Given the description of an element on the screen output the (x, y) to click on. 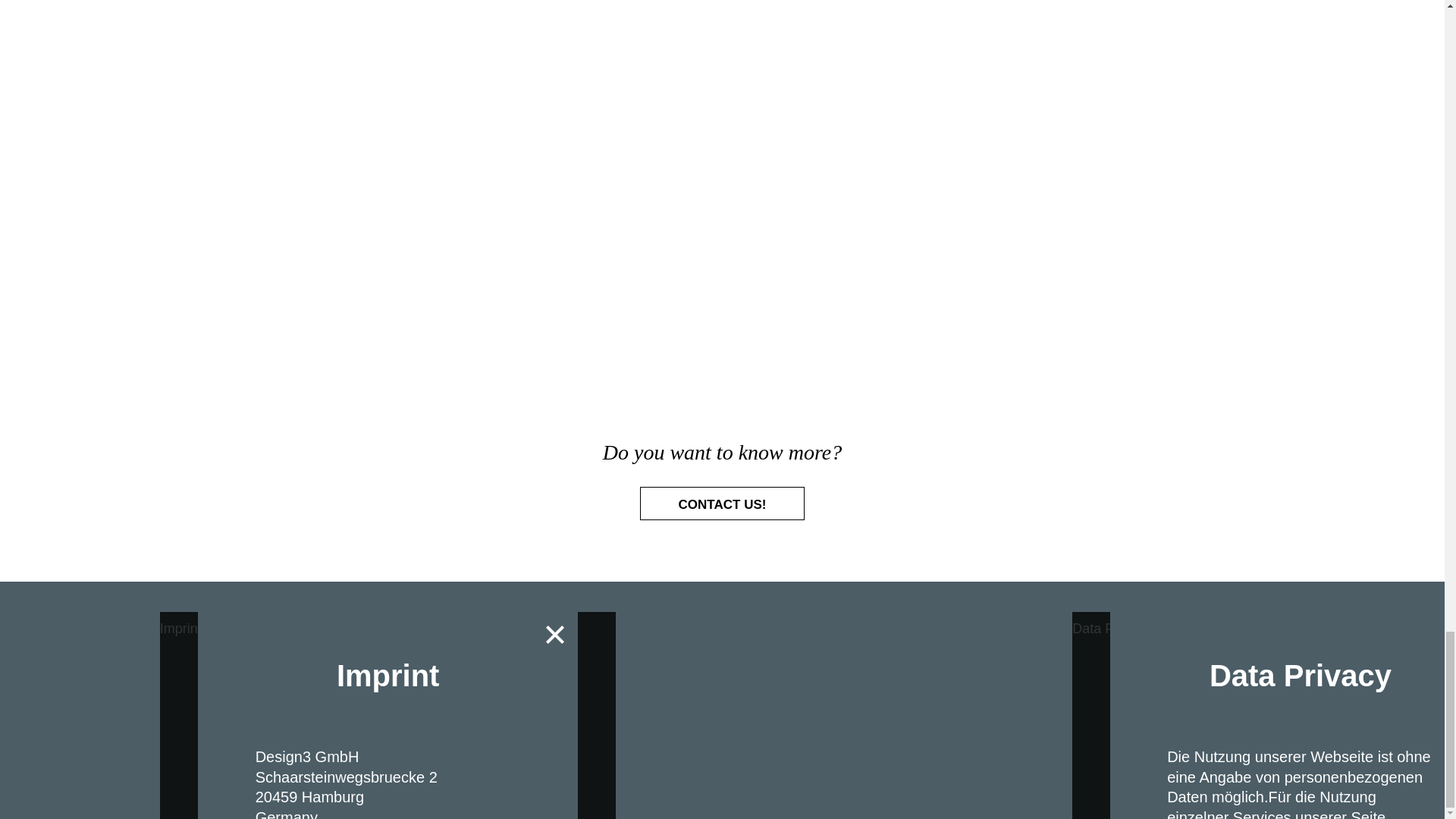
Close (555, 634)
Instagram (681, 626)
Behance (645, 626)
CONTACT US! (722, 503)
Xing (791, 626)
Youtube (718, 626)
Linkedin (754, 626)
